Given the description of an element on the screen output the (x, y) to click on. 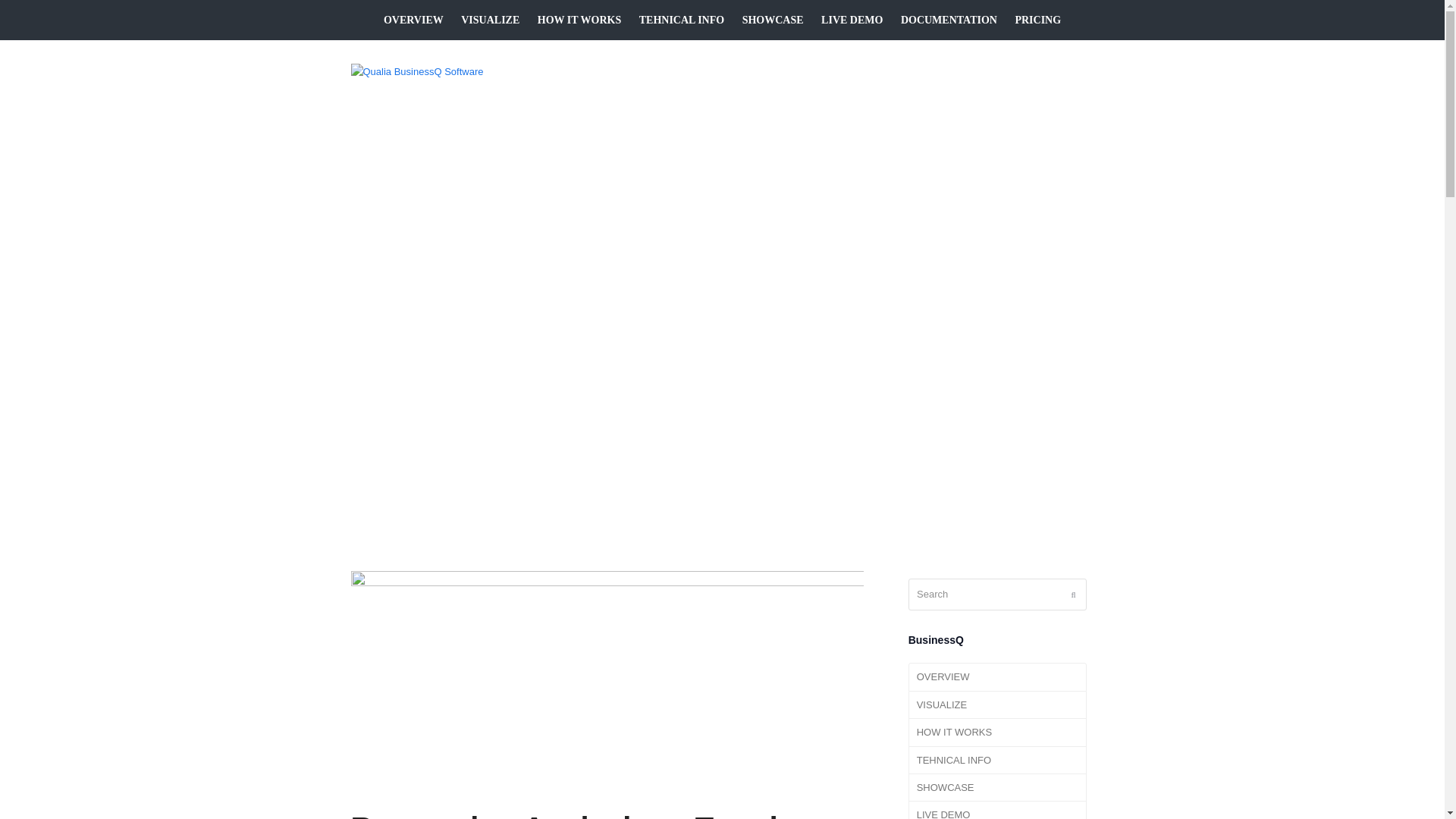
TEHNICAL INFO (681, 19)
PARTNERS (842, 71)
SHOWCASE (772, 19)
EMBEDDED BI (749, 71)
USE CASES (652, 71)
VISUALIZE (490, 19)
ABOUT (917, 71)
HOW IT WORKS (579, 19)
DOCUMENTATION (949, 19)
LOG IN (1041, 71)
